Given the description of an element on the screen output the (x, y) to click on. 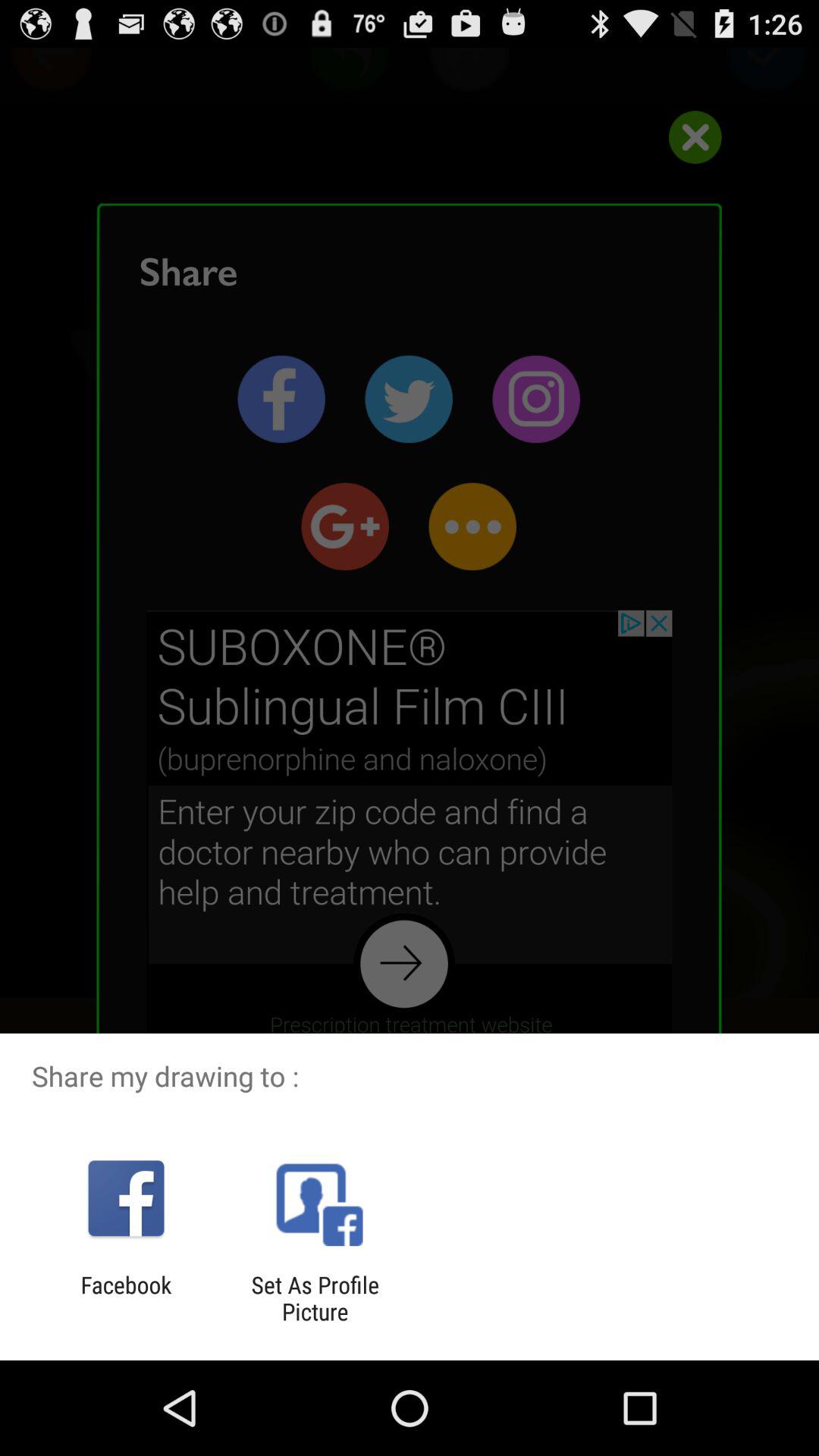
launch the app next to facebook item (314, 1298)
